Given the description of an element on the screen output the (x, y) to click on. 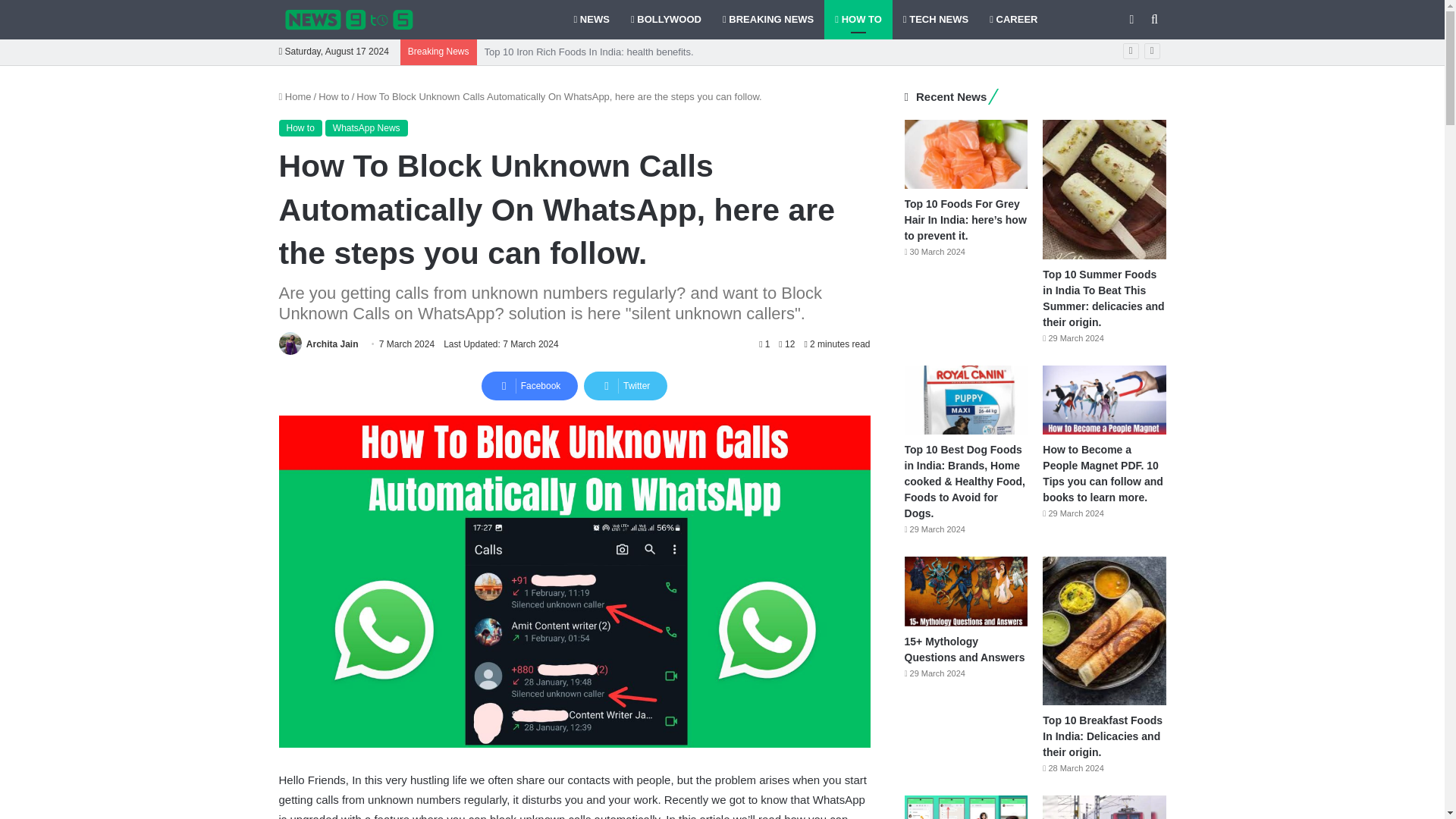
WhatsApp News (365, 127)
Twitter (624, 385)
BREAKING NEWS (767, 19)
BOLLYWOOD (665, 19)
Facebook (529, 385)
NEWS (591, 19)
Twitter (624, 385)
HOW TO (858, 19)
How to (300, 127)
Archita Jain (331, 344)
